Given the description of an element on the screen output the (x, y) to click on. 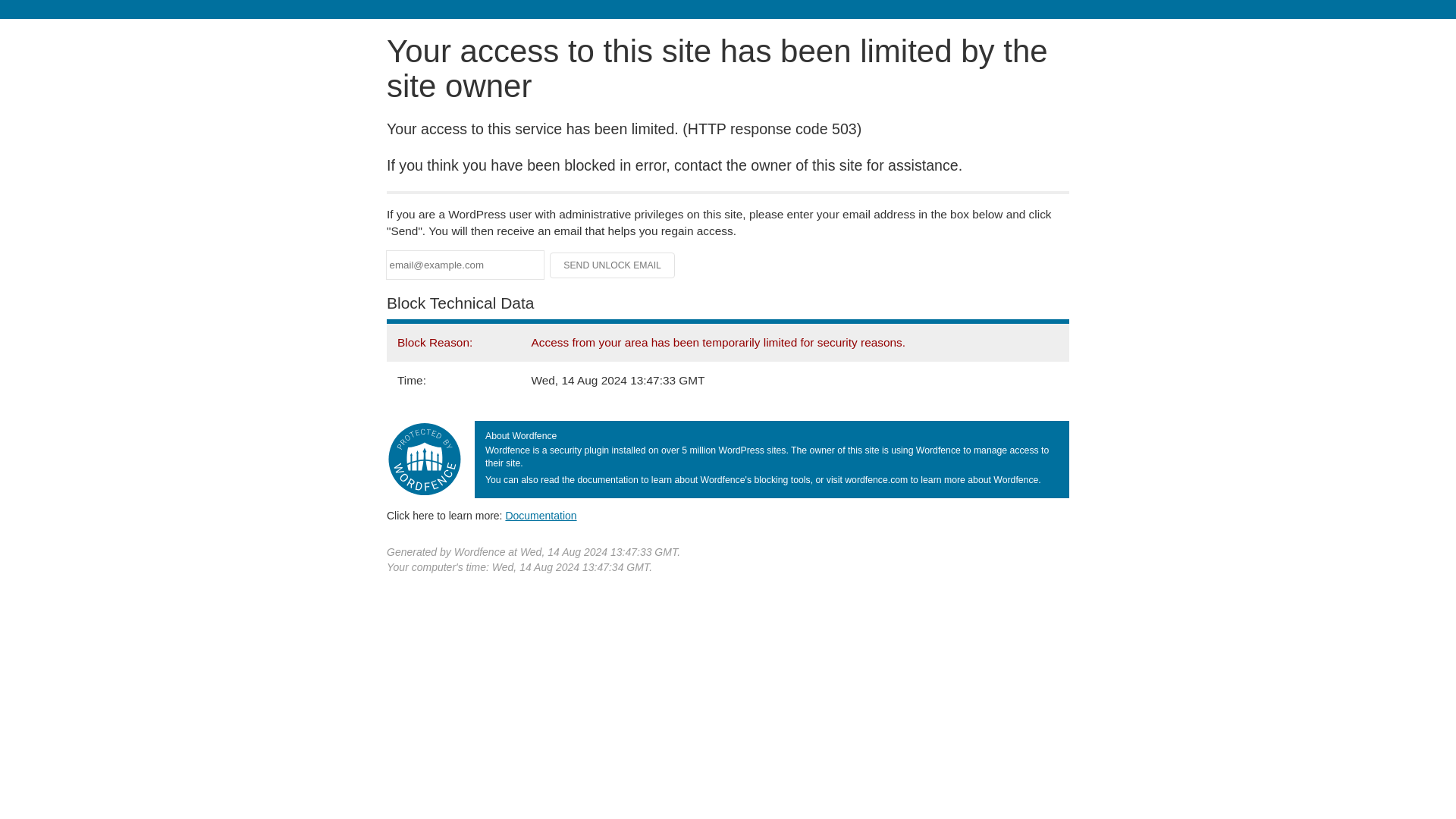
Documentation (540, 515)
Send Unlock Email (612, 265)
Send Unlock Email (612, 265)
